Given the description of an element on the screen output the (x, y) to click on. 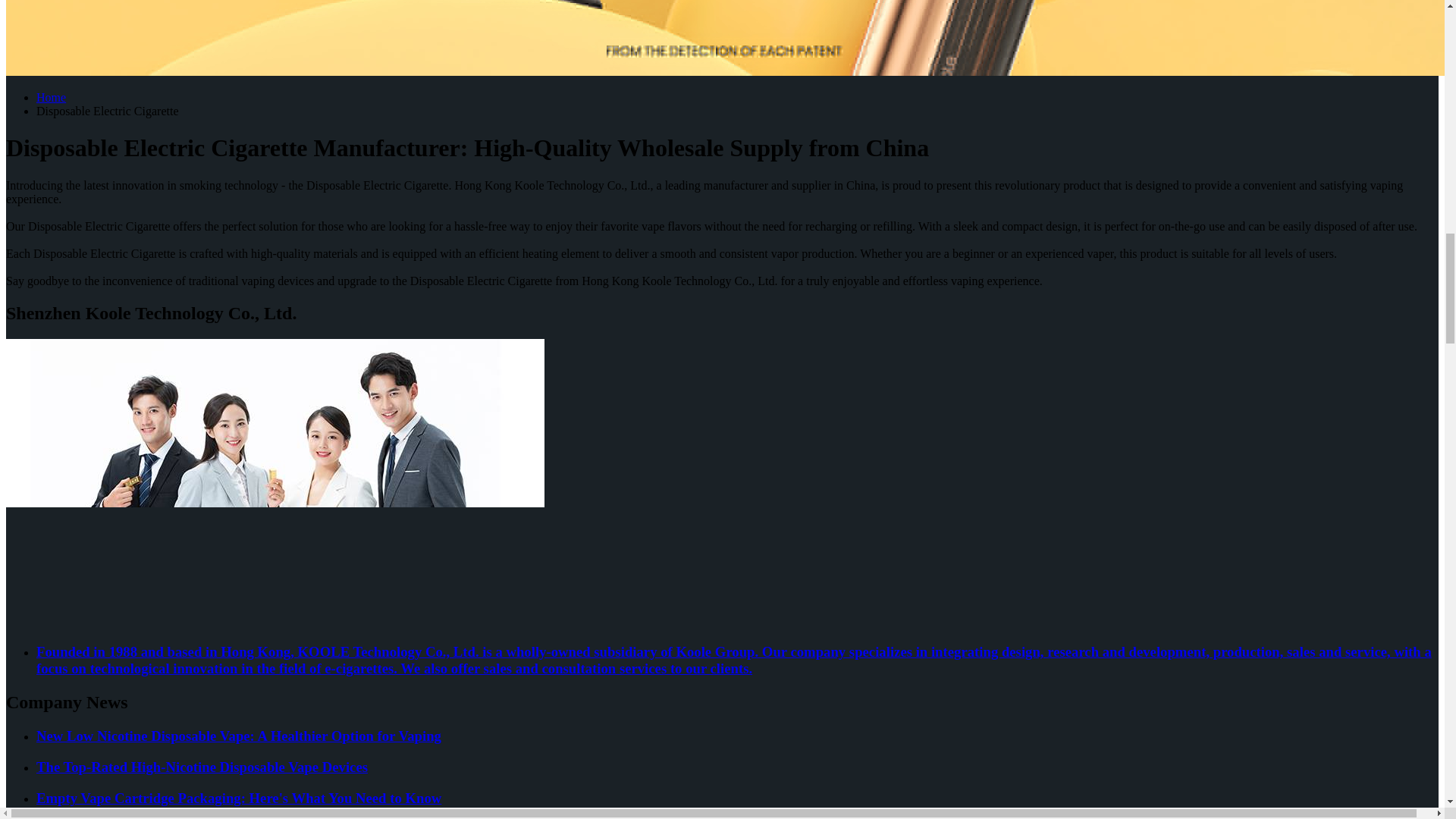
The Top-Rated High-Nicotine Disposable Vape Devices (737, 767)
Empty Vape Cartridge Packaging: Here's What You Need to Know (737, 798)
Home (50, 97)
